Given the description of an element on the screen output the (x, y) to click on. 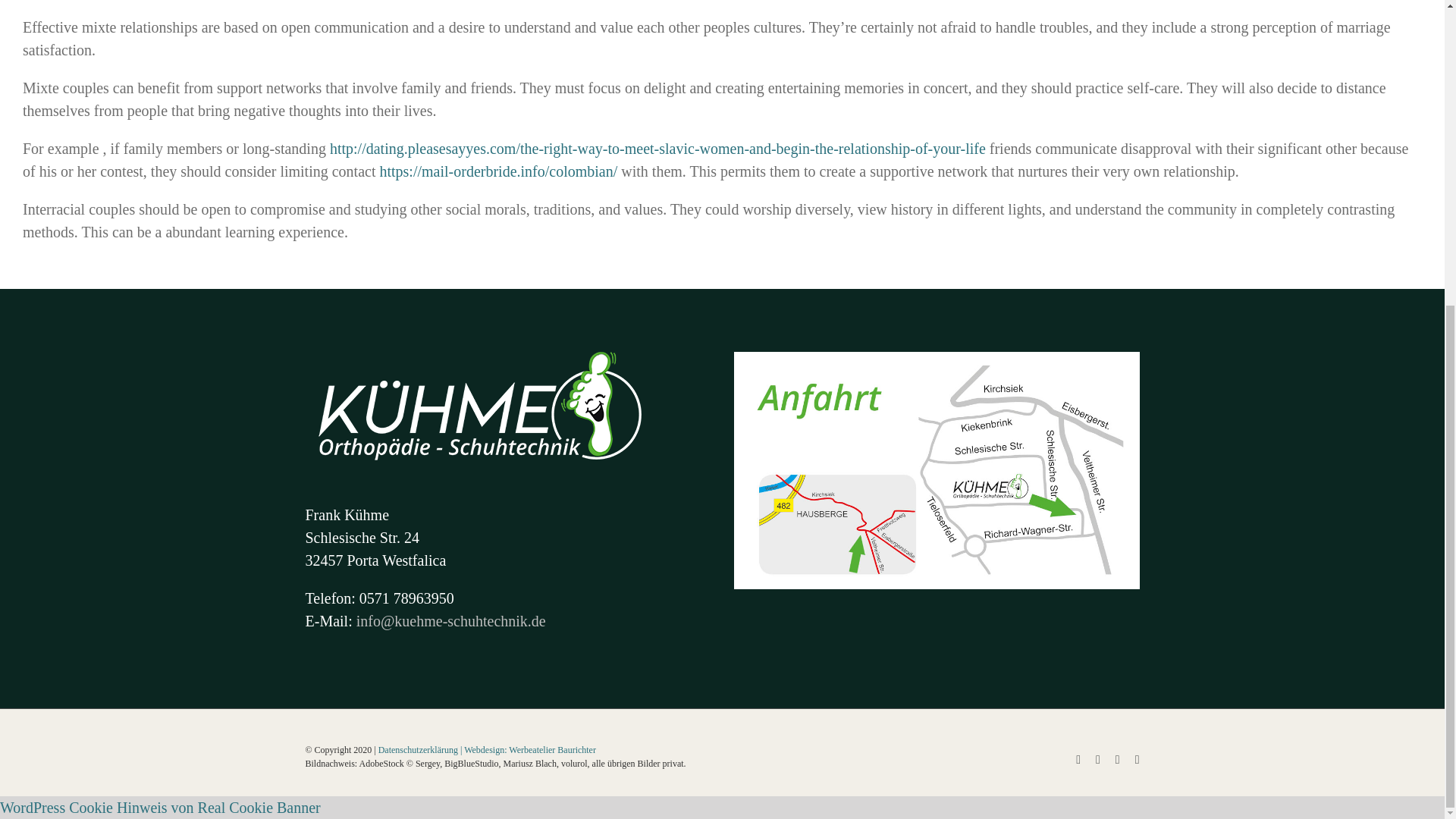
Werbeatelier Baurichter (551, 749)
WordPress Cookie Hinweis von Real Cookie Banner (160, 807)
